Given the description of an element on the screen output the (x, y) to click on. 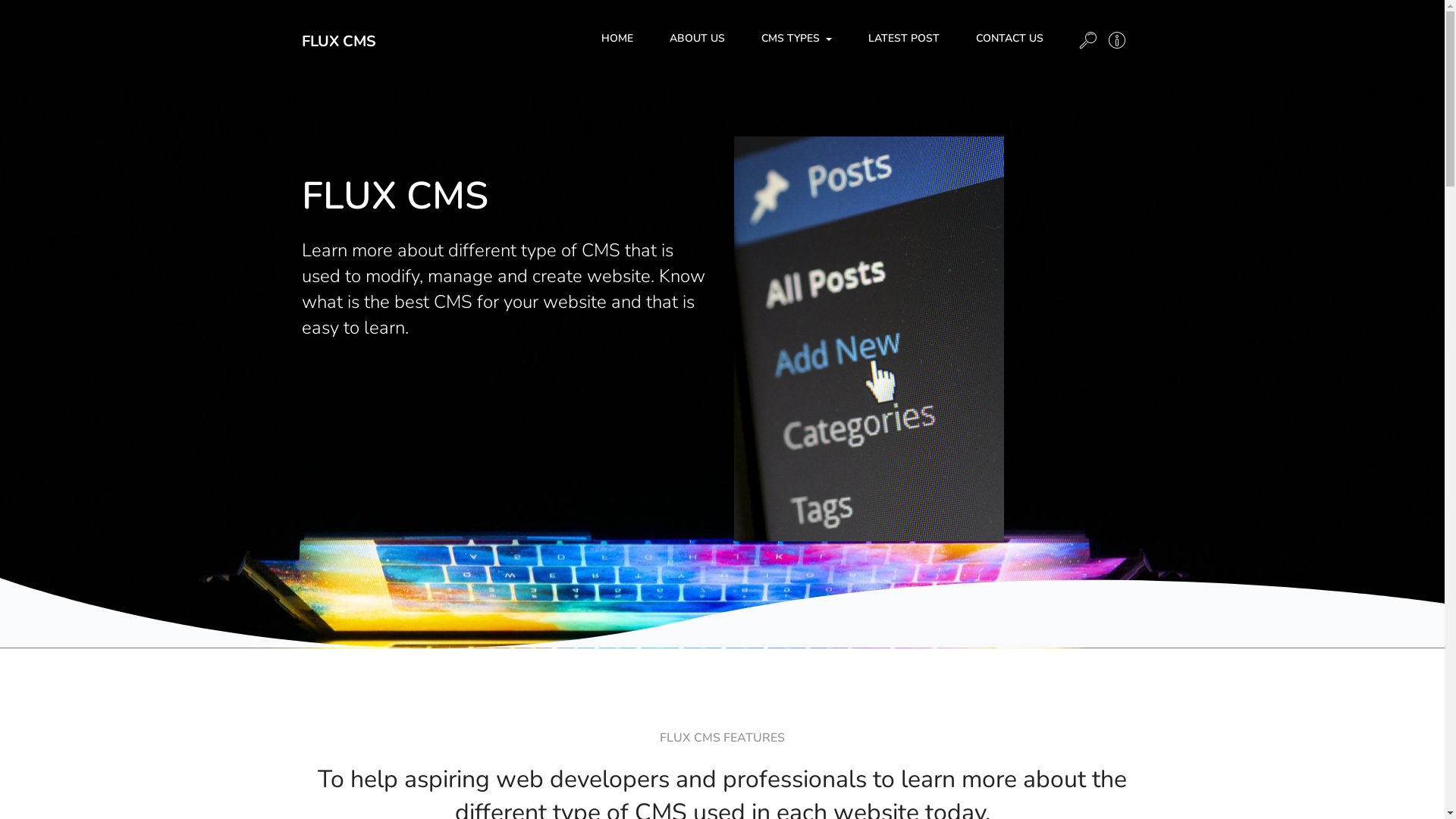
LATEST POST Element type: text (903, 38)
CMS TYPES Element type: text (796, 38)
HOME Element type: text (616, 38)
FLUX CMS Element type: text (338, 40)
ABOUT US Element type: text (696, 38)
CONTACT US Element type: text (1008, 38)
